Given the description of an element on the screen output the (x, y) to click on. 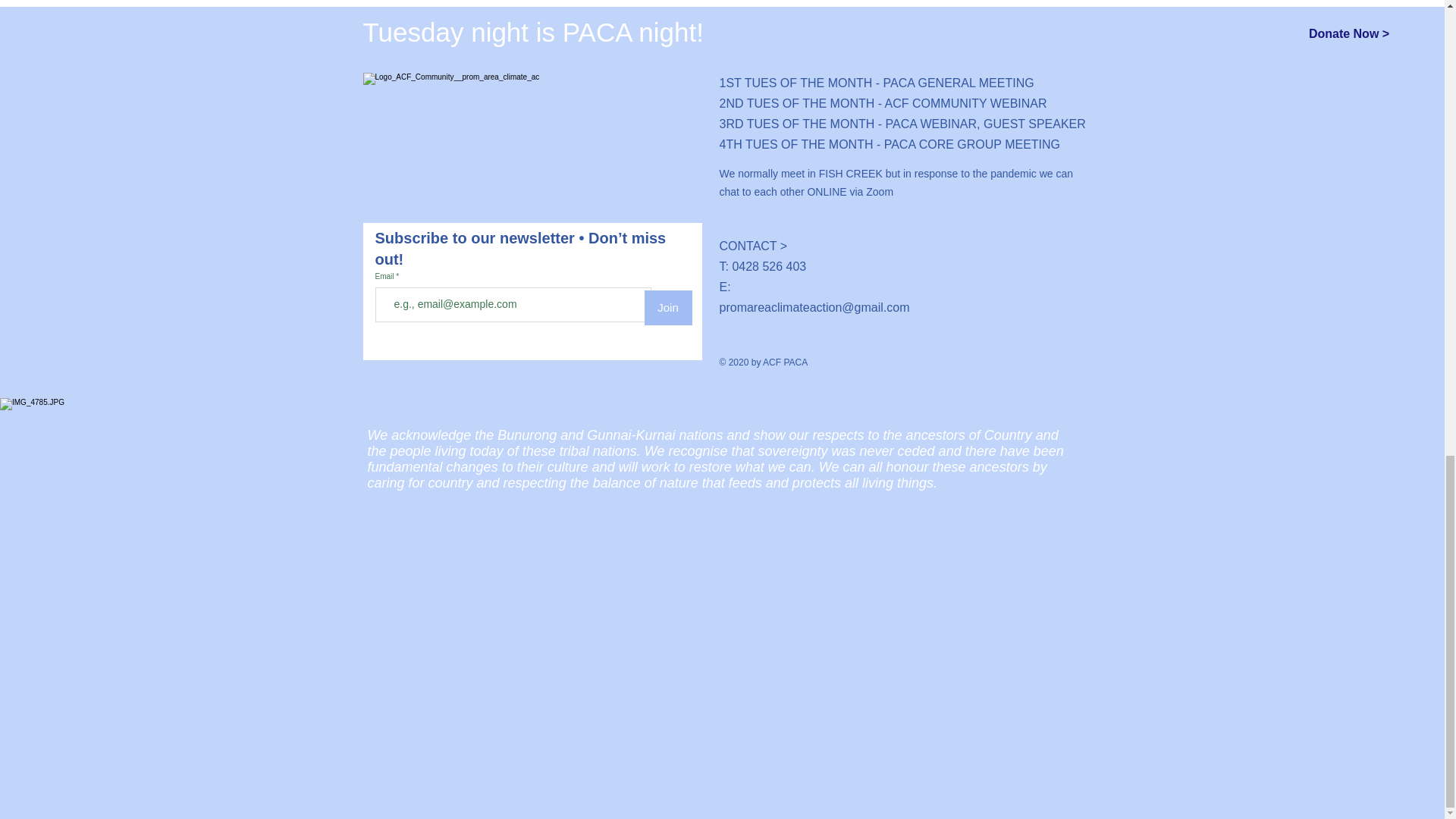
Join (669, 307)
